Given the description of an element on the screen output the (x, y) to click on. 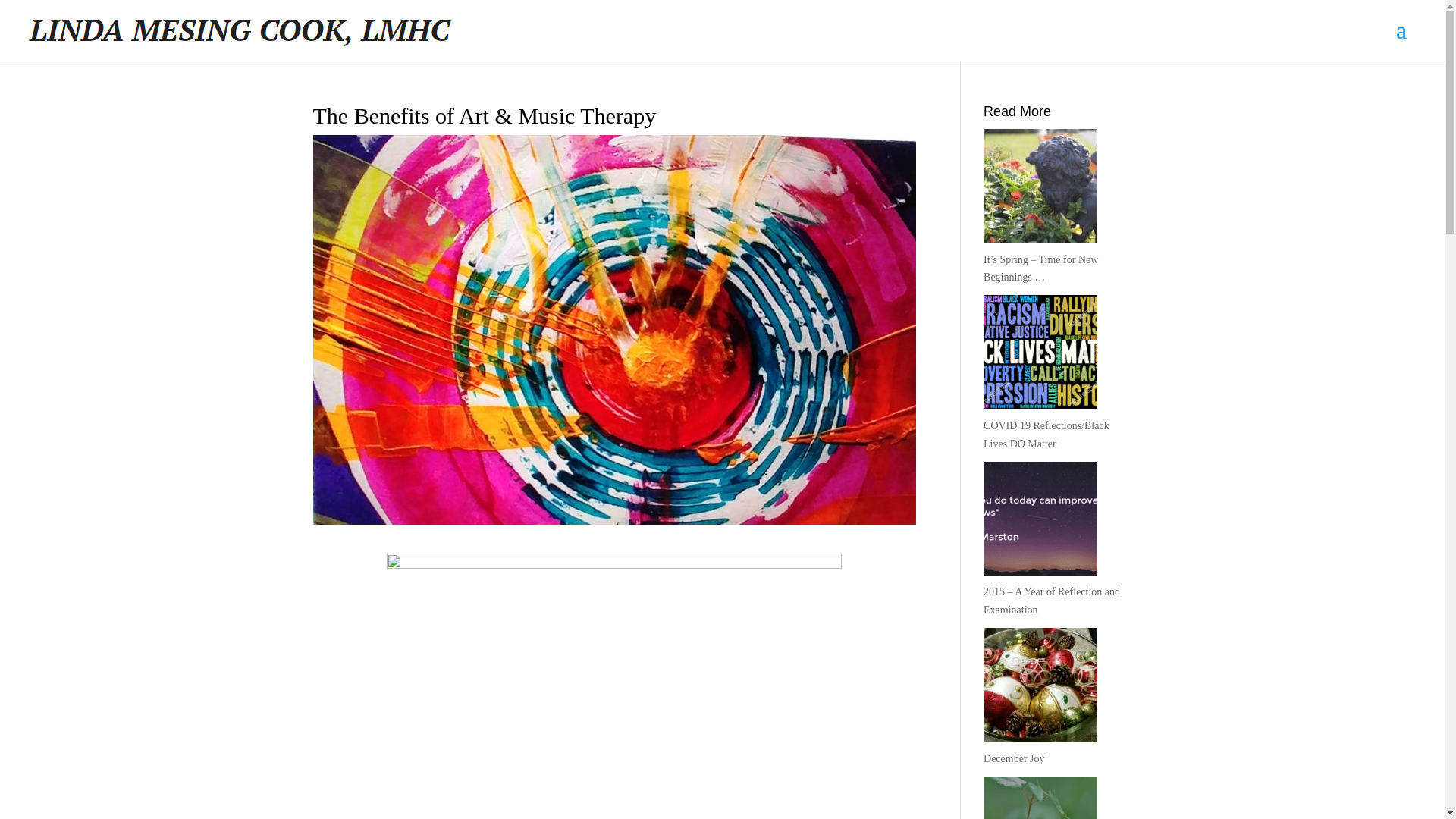
December Joy (1013, 758)
